Given the description of an element on the screen output the (x, y) to click on. 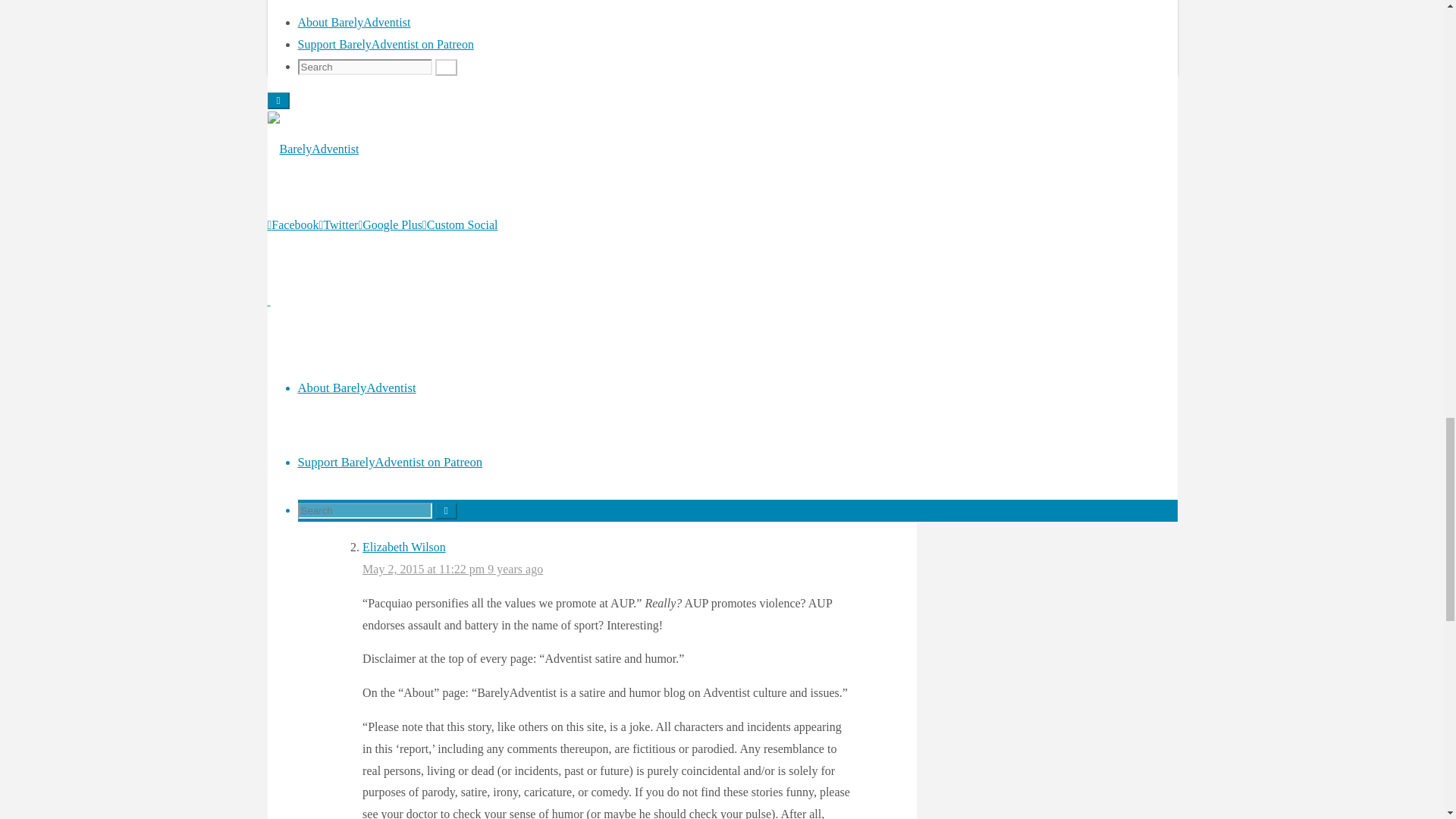
Tweet (360, 56)
More (454, 57)
Click to share on WhatsApp (407, 57)
WhatsApp (407, 57)
